Given the description of an element on the screen output the (x, y) to click on. 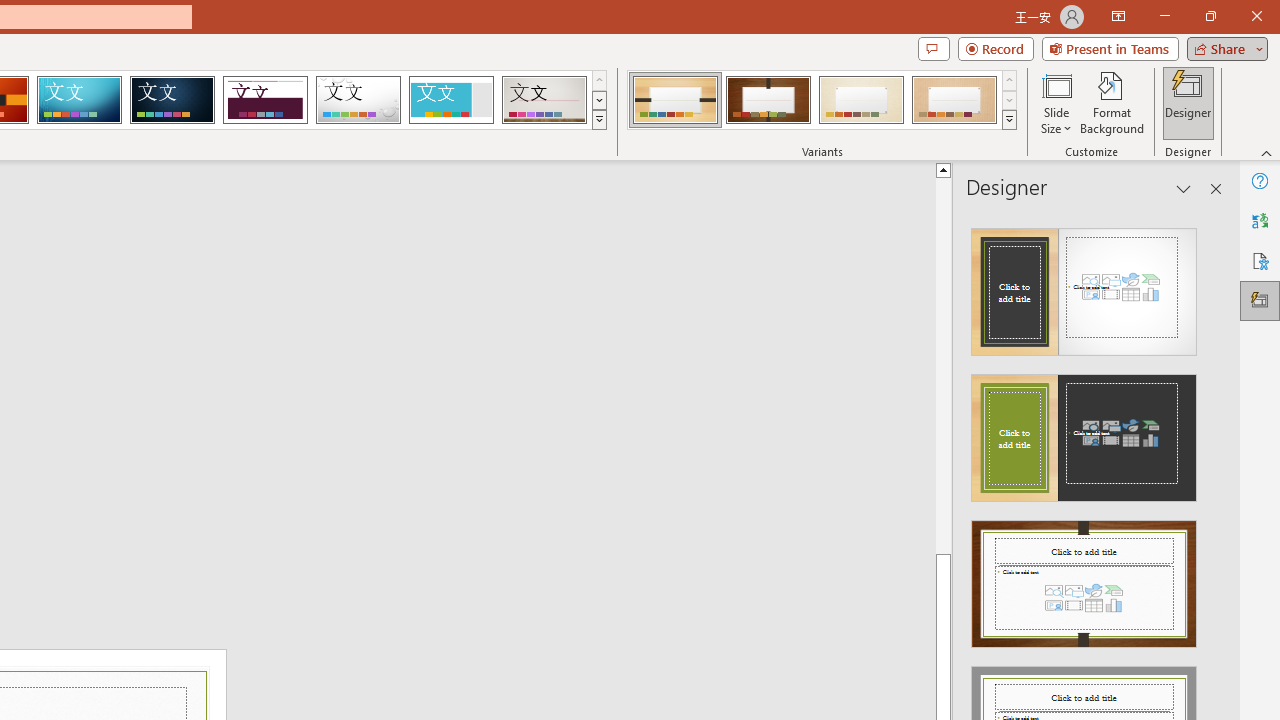
Circuit (79, 100)
Organic Variant 2 (768, 100)
AutomationID: ThemeVariantsGallery (822, 99)
Organic Variant 3 (861, 100)
Themes (598, 120)
